Given the description of an element on the screen output the (x, y) to click on. 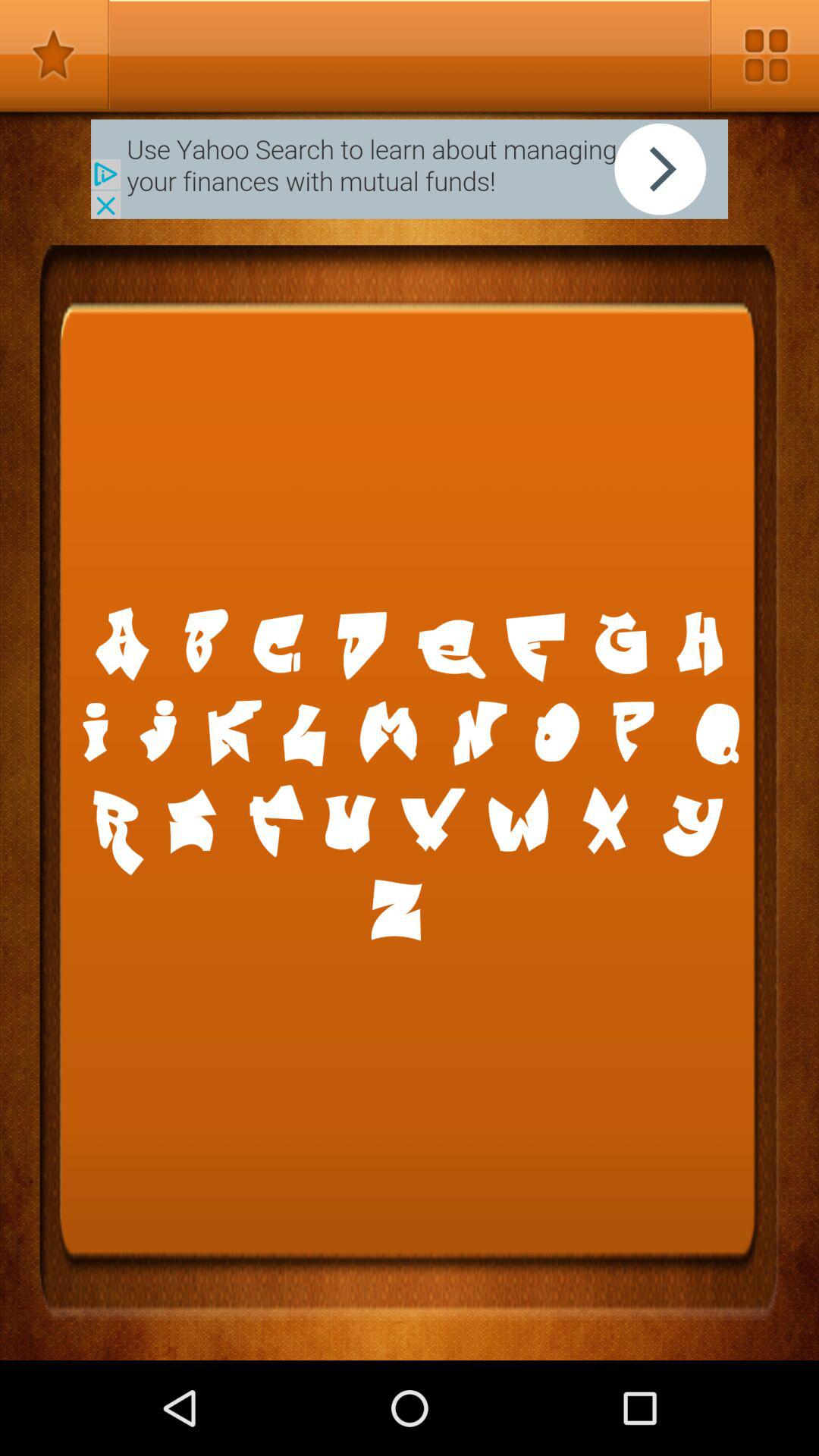
advertisement (409, 168)
